Given the description of an element on the screen output the (x, y) to click on. 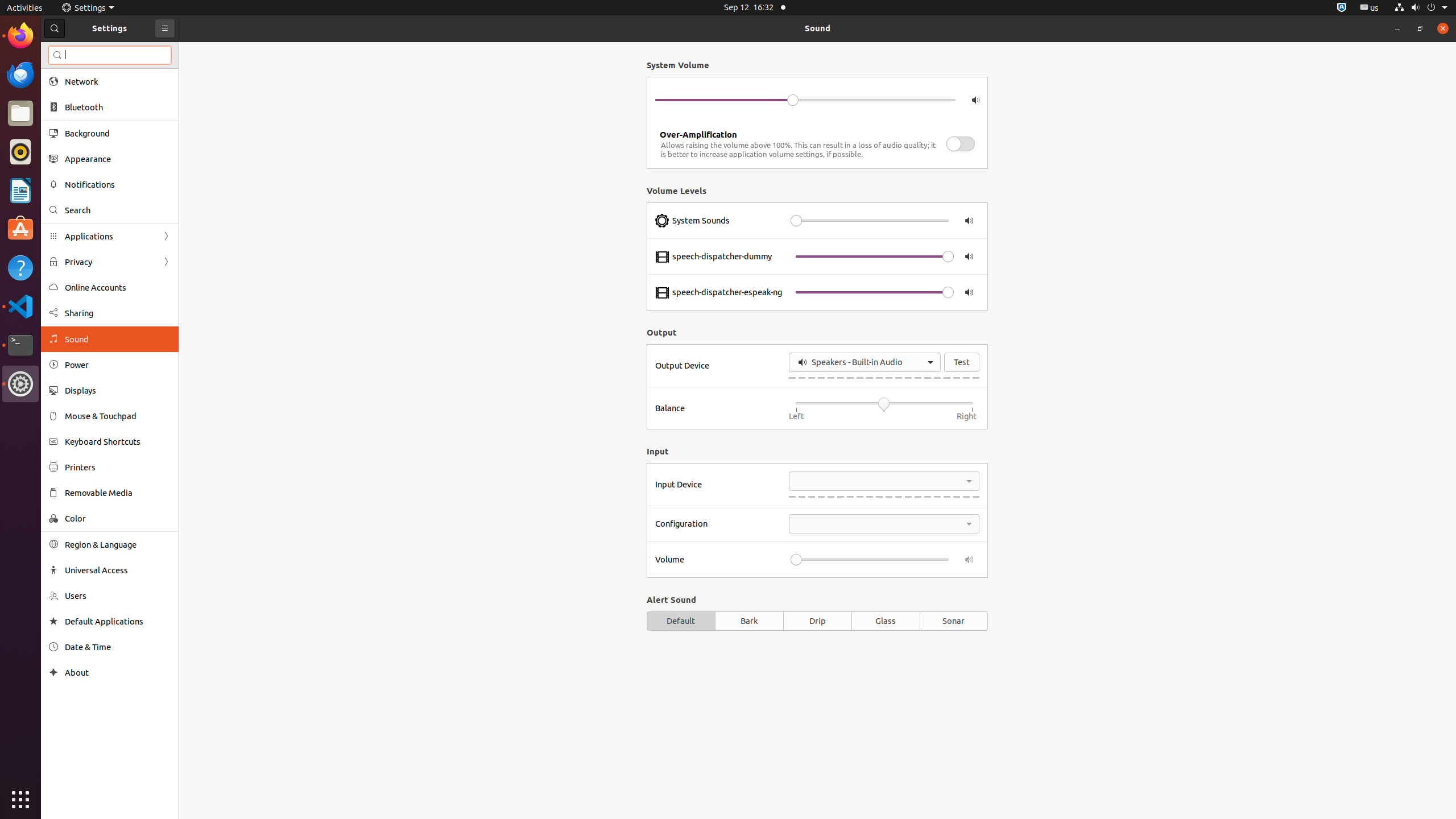
Glass Element type: toggle-button (885, 620)
Universal Access Element type: label (117, 570)
Background Element type: label (117, 133)
Region & Language Element type: label (117, 544)
